Given the description of an element on the screen output the (x, y) to click on. 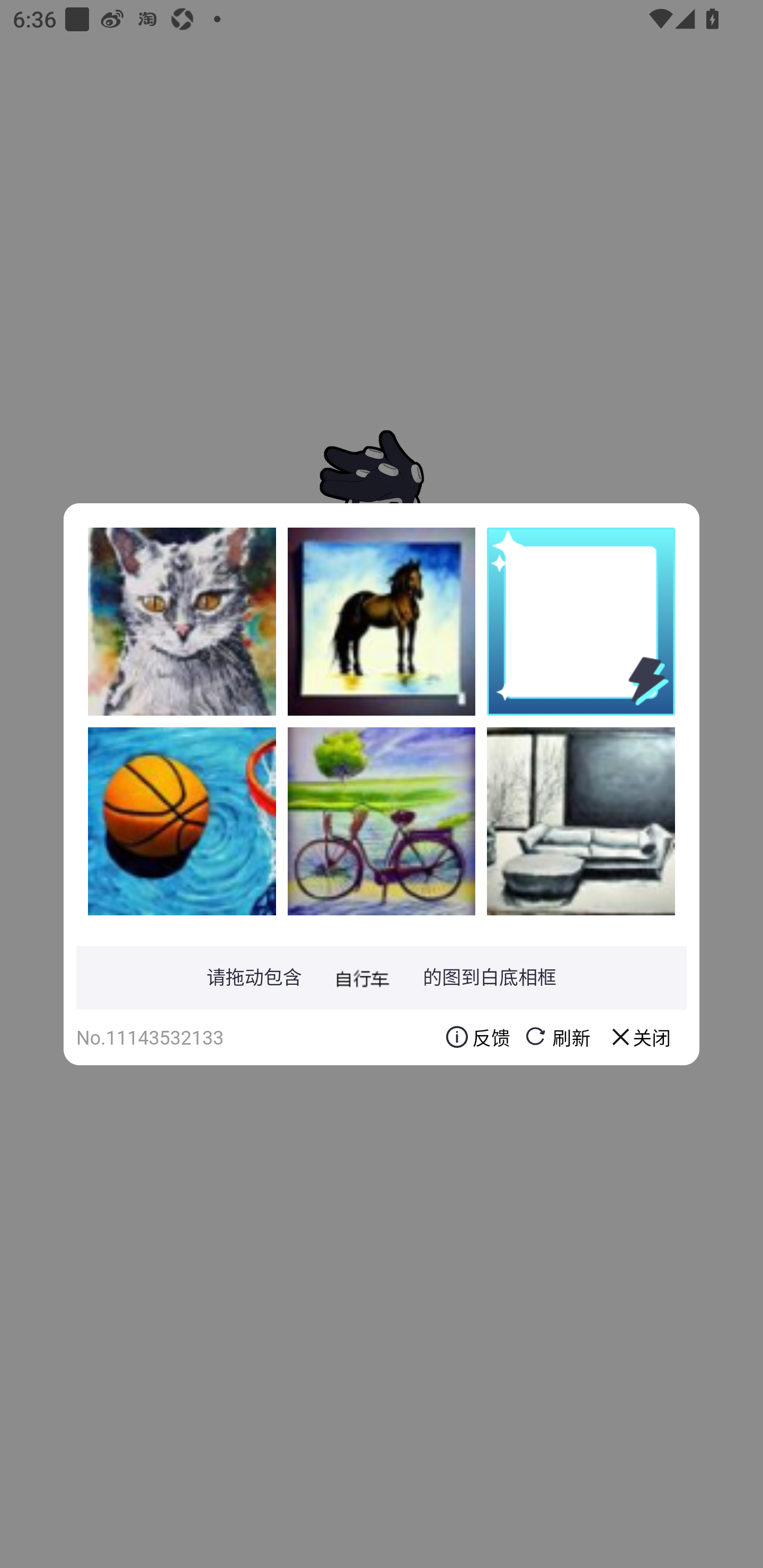
eSOb (381, 820)
